Given the description of an element on the screen output the (x, y) to click on. 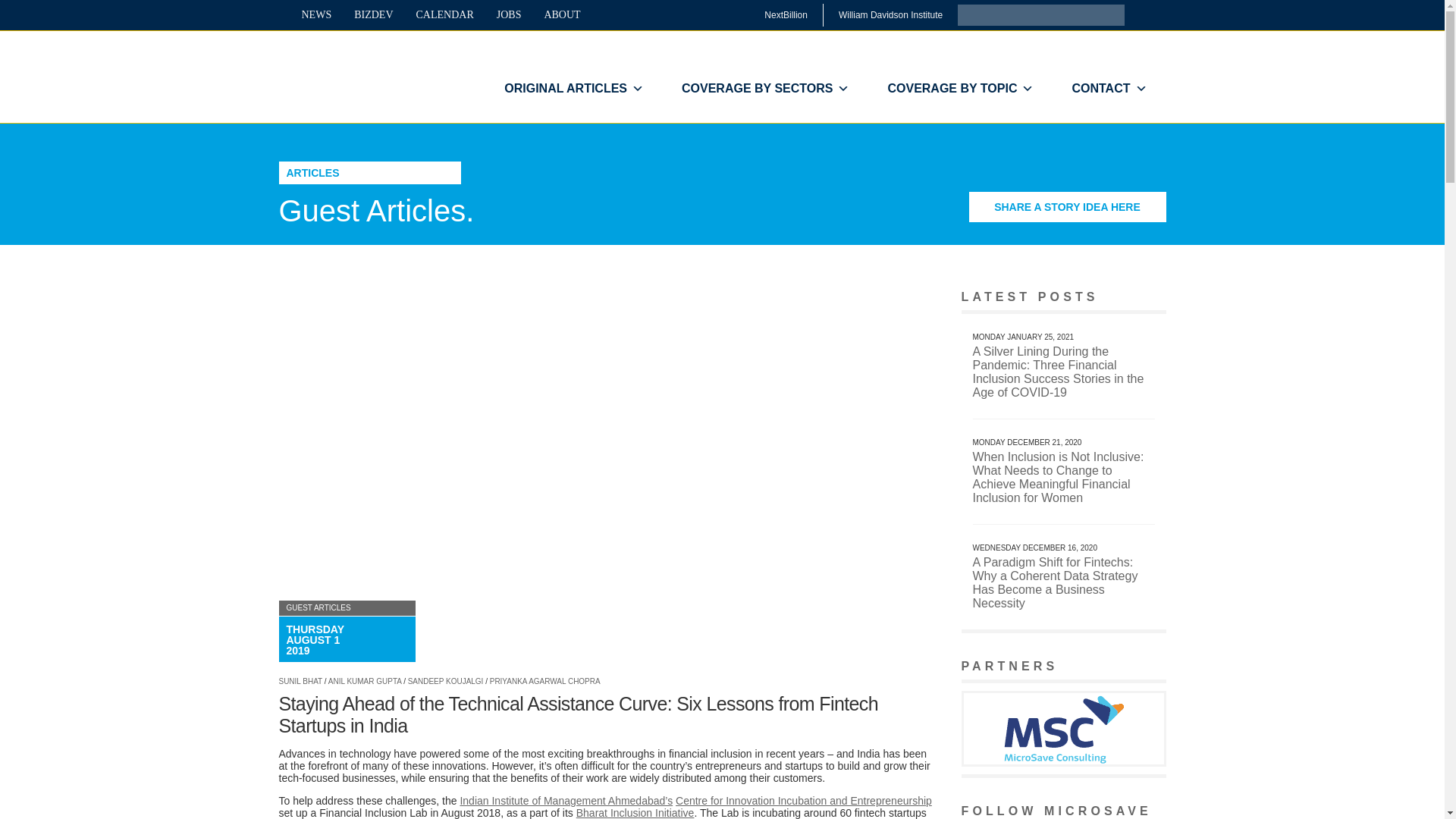
COVERAGE BY SECTORS (764, 88)
ORIGINAL ARTICLES (573, 88)
COVERAGE BY TOPIC (959, 88)
